Given the description of an element on the screen output the (x, y) to click on. 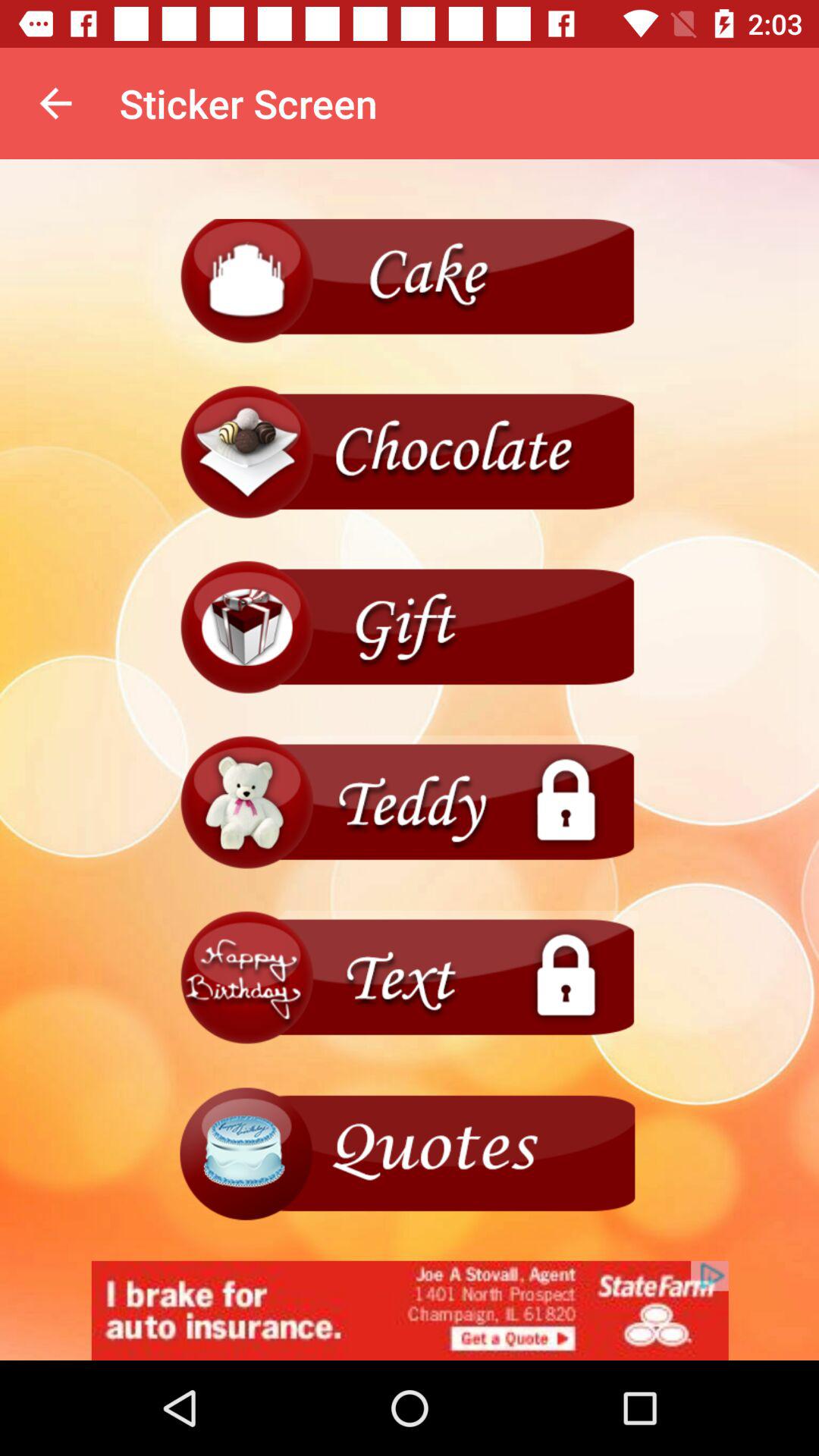
select chocolate (409, 452)
